Given the description of an element on the screen output the (x, y) to click on. 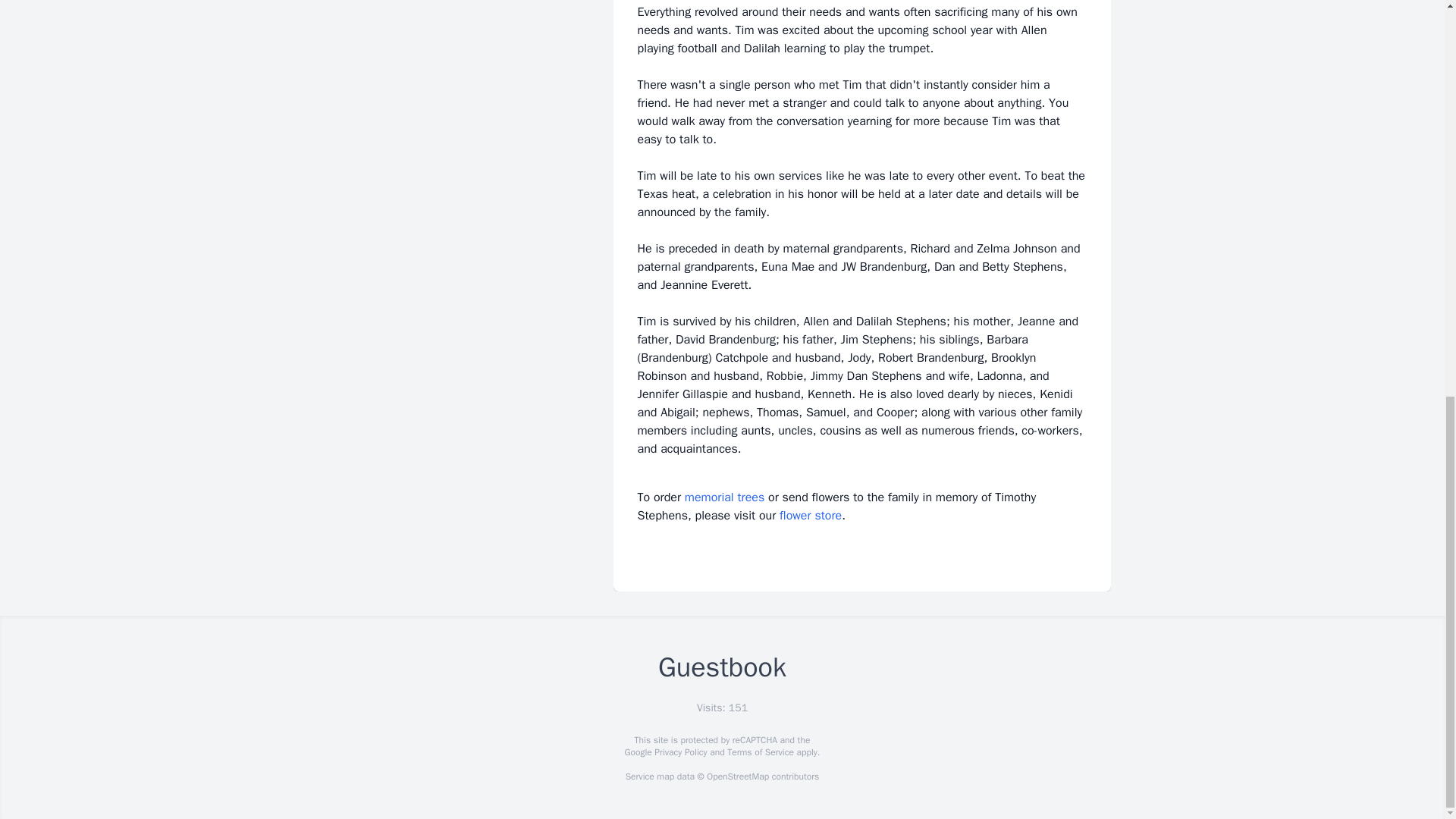
OpenStreetMap (737, 776)
memorial trees (724, 497)
Terms of Service (759, 752)
Privacy Policy (679, 752)
flower store (809, 515)
